Given the description of an element on the screen output the (x, y) to click on. 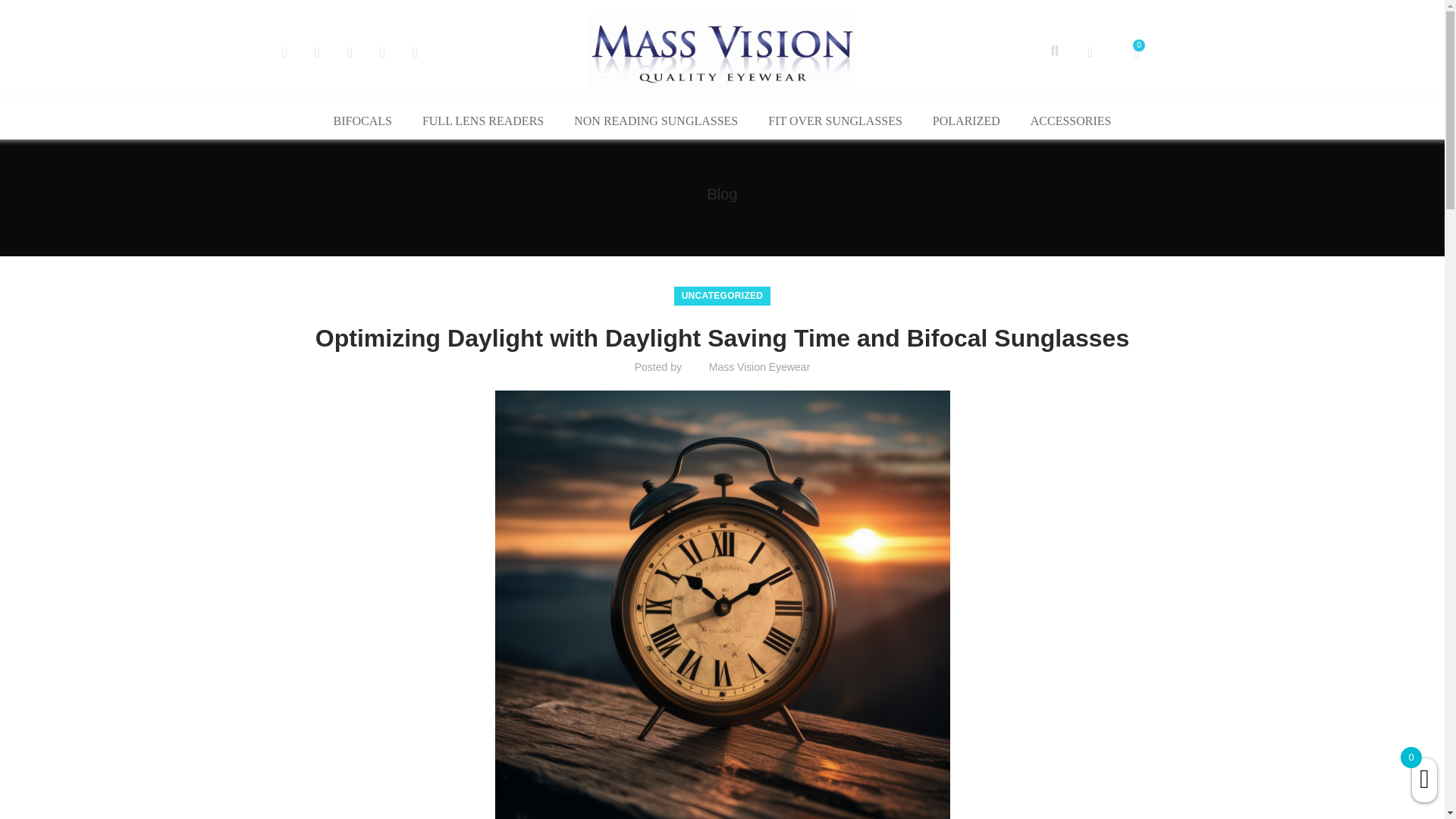
BIFOCALS (362, 121)
Mass Vision Eyewear (759, 367)
NON READING SUNGLASSES (655, 121)
ACCESSORIES (1070, 121)
BEST (722, 52)
FULL LENS READERS (483, 121)
UNCATEGORIZED (721, 295)
POLARIZED (965, 121)
FIT OVER SUNGLASSES (834, 121)
